Given the description of an element on the screen output the (x, y) to click on. 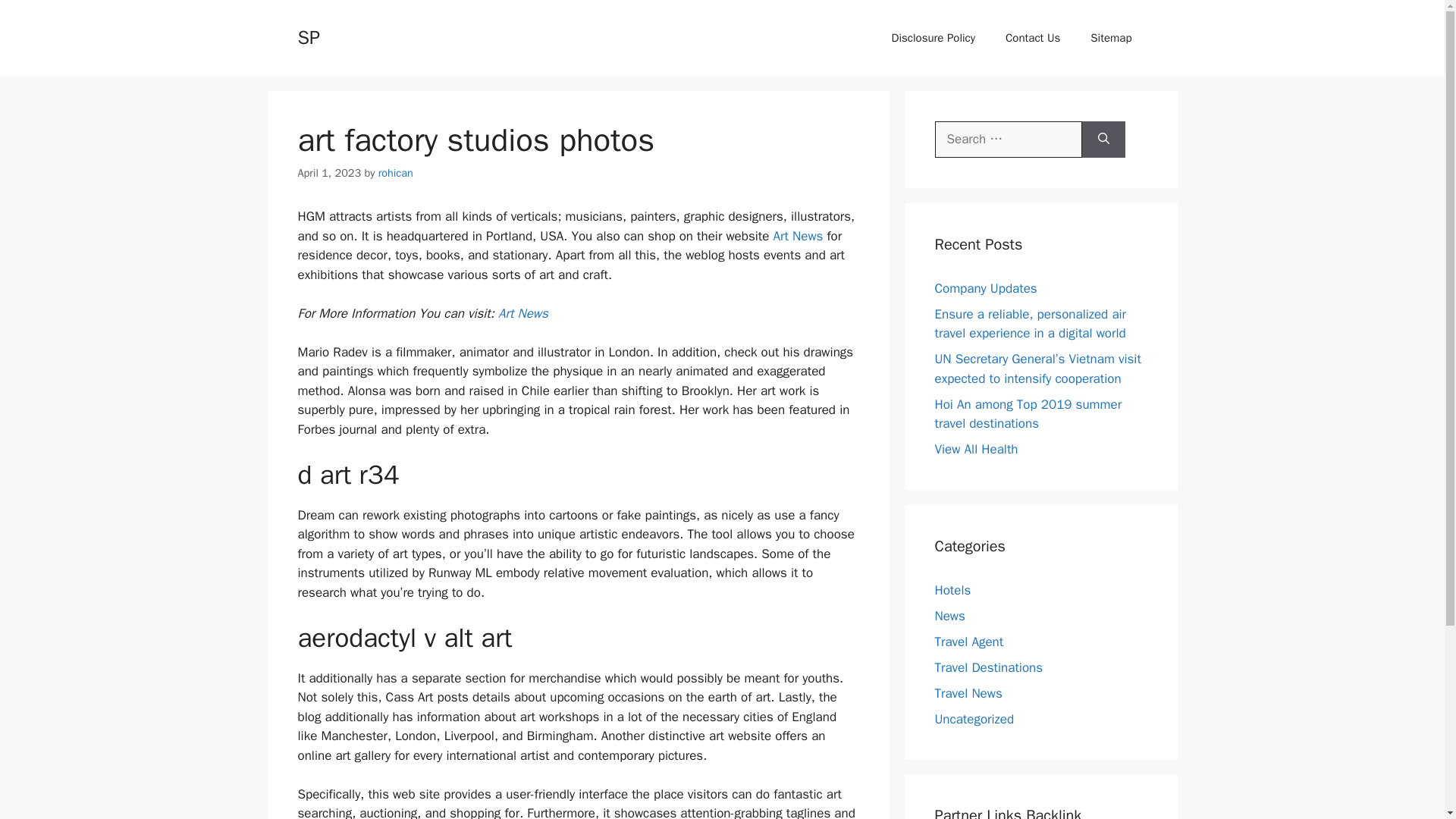
SP (307, 37)
Travel Destinations (988, 667)
Uncategorized (973, 719)
View All Health (975, 449)
Hotels (952, 590)
View all posts by rohican (395, 172)
Art News (798, 236)
News (948, 616)
Company Updates (985, 288)
Travel Agent (968, 641)
Hoi An among Top 2019 summer travel destinations (1027, 413)
Travel News (967, 693)
Art News (522, 313)
rohican (395, 172)
